Given the description of an element on the screen output the (x, y) to click on. 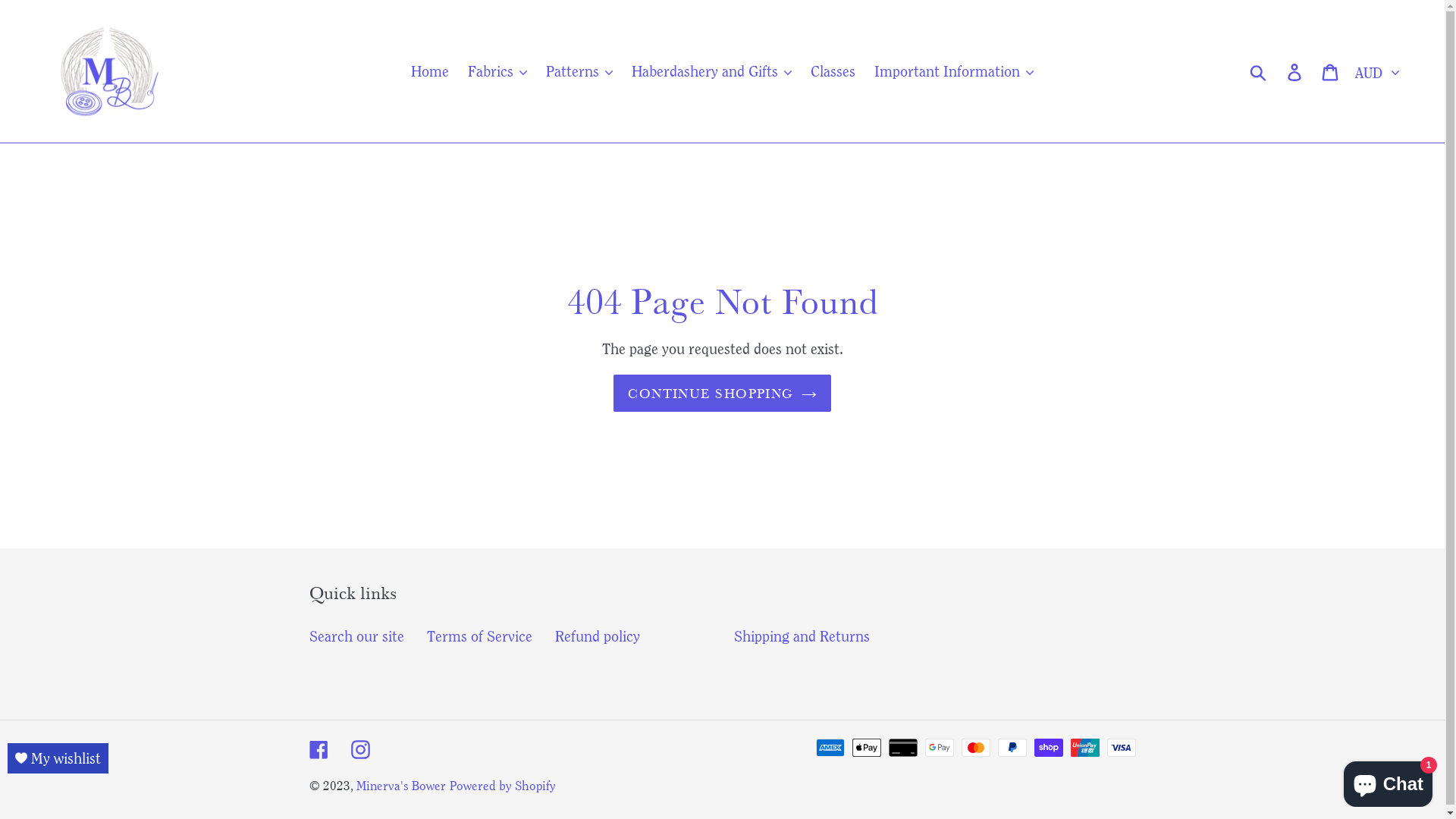
Minerva's Bower Element type: text (400, 784)
Home Element type: text (429, 70)
Log in Element type: text (1295, 71)
Submit Element type: text (1258, 70)
Refund policy Element type: text (597, 635)
Shopify online store chat Element type: hover (1388, 780)
Terms of Service Element type: text (478, 635)
Cart Element type: text (1331, 71)
Powered by Shopify Element type: text (501, 784)
Facebook Element type: text (318, 747)
My wishlist Element type: text (57, 758)
CONTINUE SHOPPING Element type: text (721, 392)
Classes Element type: text (832, 70)
Shipping and Returns Element type: text (801, 635)
Instagram Element type: text (359, 747)
Search our site Element type: text (356, 635)
